Given the description of an element on the screen output the (x, y) to click on. 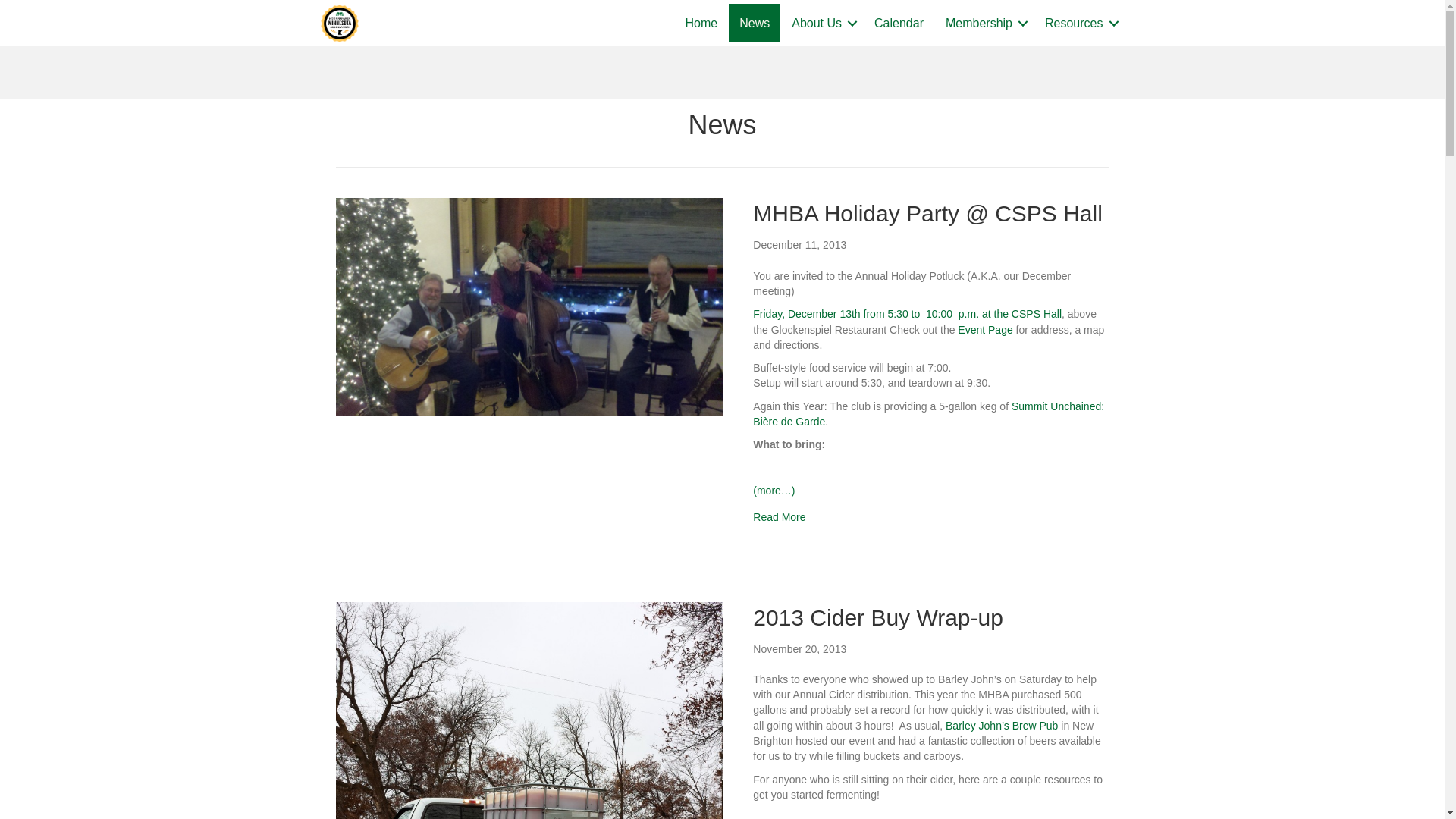
2013 Holiday Party (984, 329)
Read More (778, 516)
Membership (983, 23)
2013 Holiday Party (906, 313)
News (754, 23)
mhba logo 2017 500px (339, 23)
Calendar (898, 23)
About Us (821, 23)
Event Page (984, 329)
Resources (1078, 23)
Home (702, 23)
2013 Cider Buy Wrap-up (877, 617)
2013 Cider Buy Wrap-up (877, 617)
